Given the description of an element on the screen output the (x, y) to click on. 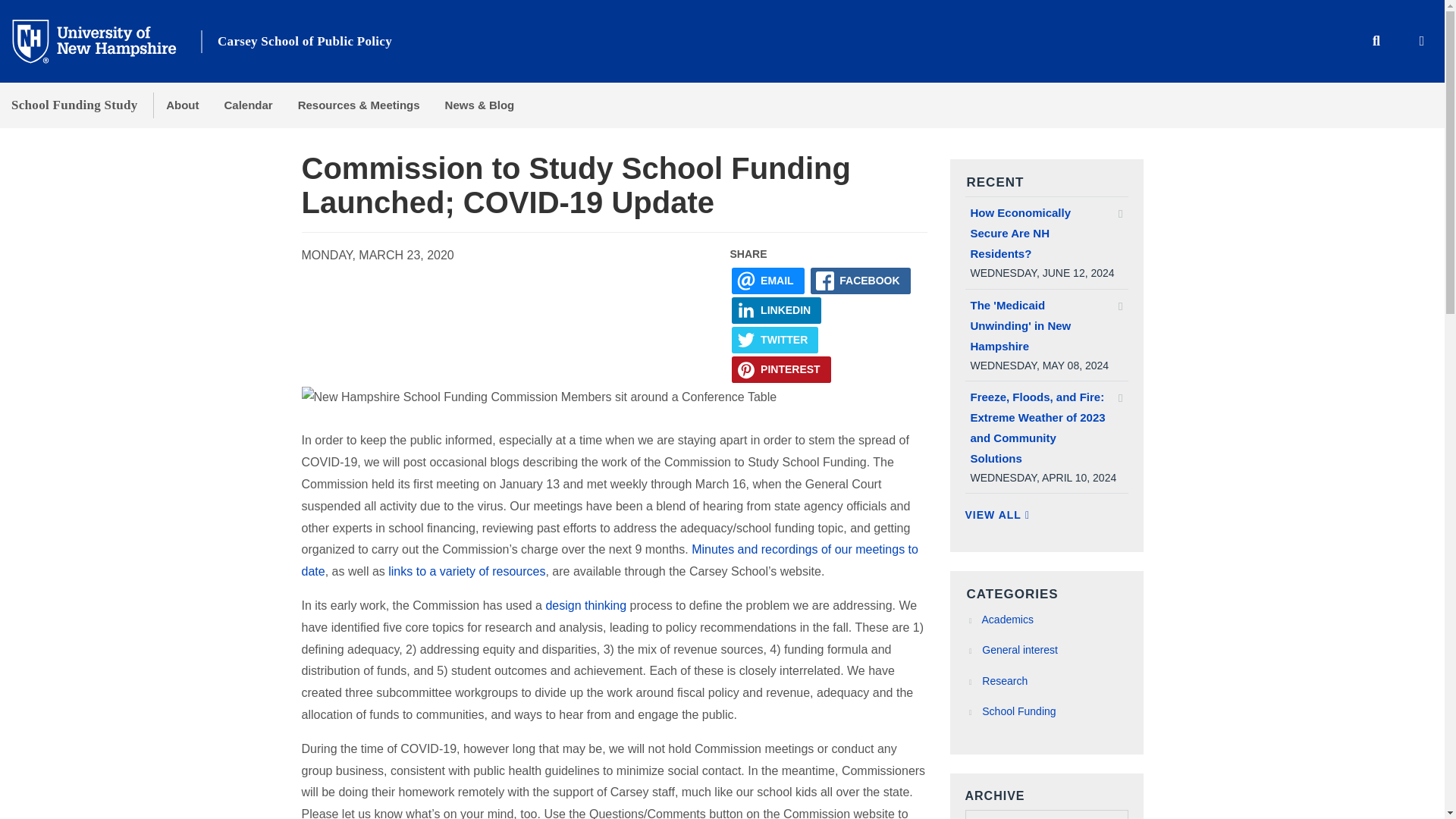
FACEBOOK (860, 280)
links to a variety of resources (466, 571)
How Economically Secure Are NH Residents? (1046, 232)
Resources and Meeting Information (466, 571)
Carsey School of Public Policy (303, 41)
TWITTER (775, 339)
Minutes and recordings of our meetings to date (609, 560)
Commission to Study School Funding Launched; COVID-19 Update (575, 185)
